Given the description of an element on the screen output the (x, y) to click on. 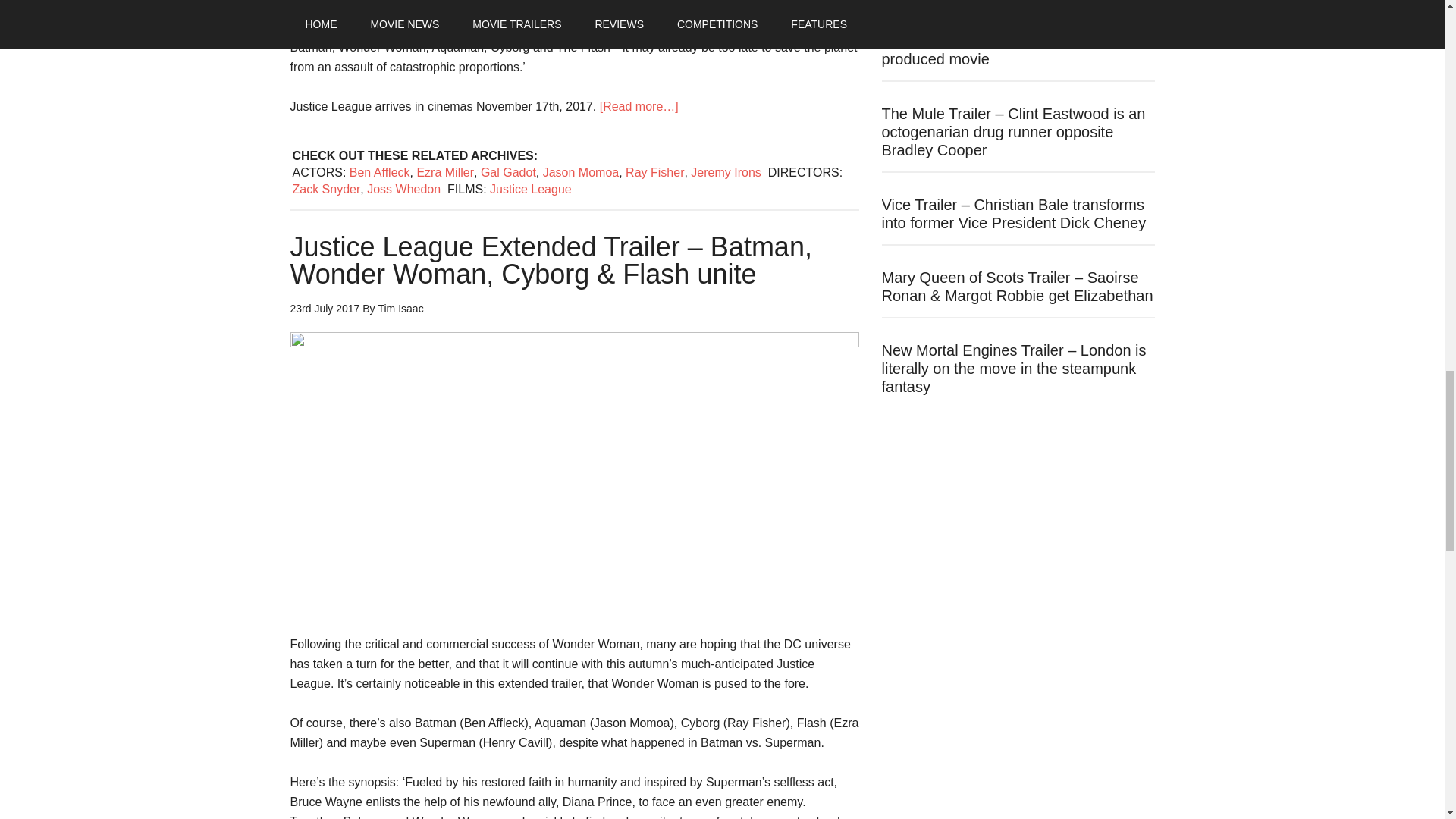
Tim Isaac (400, 307)
Gal Gadot (507, 171)
Jeremy Irons (725, 171)
Ben Affleck (379, 171)
Ezra Miller (445, 171)
Jason Momoa (581, 171)
Justice League (530, 187)
Ray Fisher (655, 171)
Zack Snyder (326, 187)
Joss Whedon (403, 187)
